Given the description of an element on the screen output the (x, y) to click on. 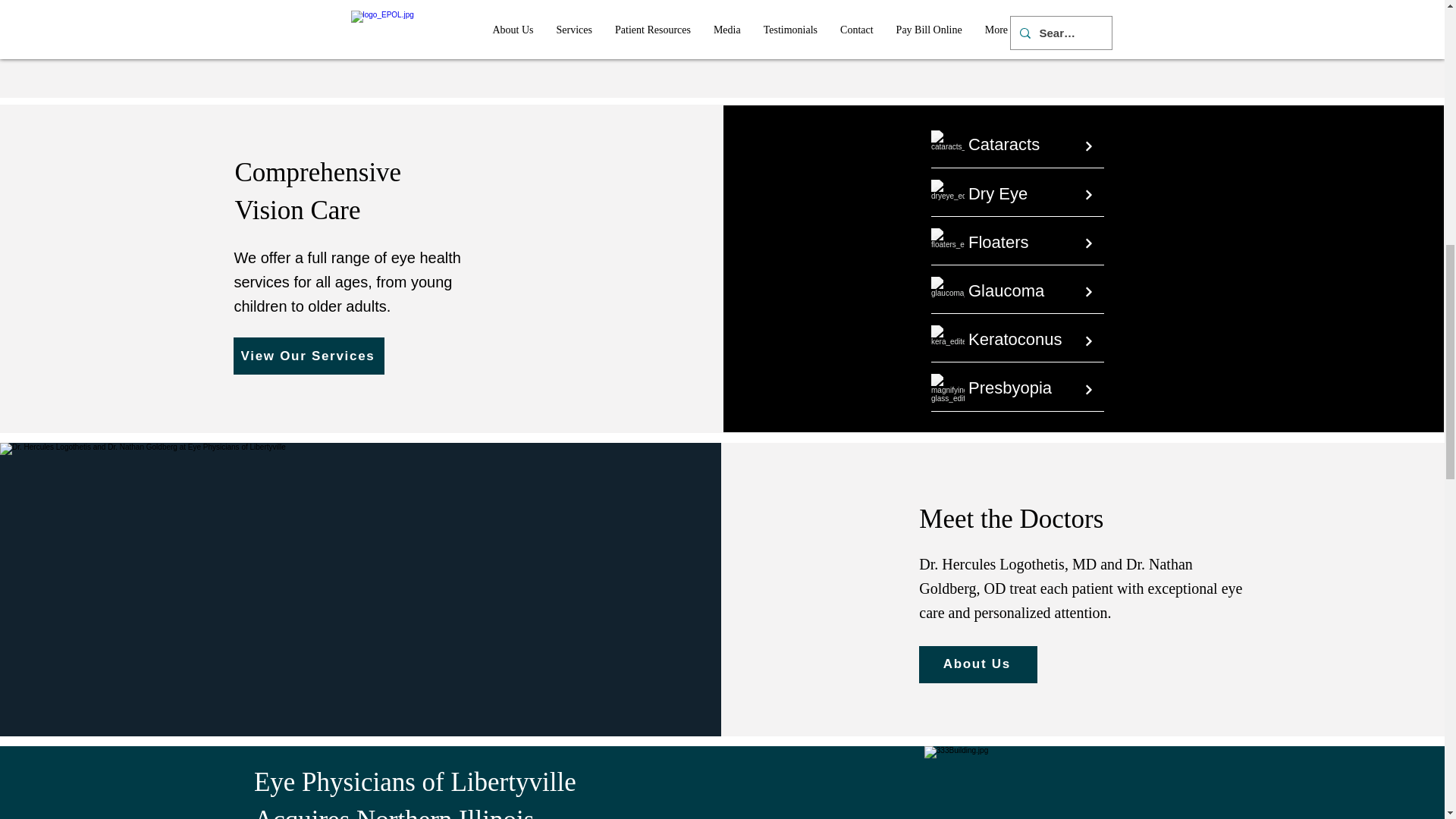
View Our Services (308, 355)
Cataracts (1003, 144)
View Laser Vision Corrective Surgeries (1073, 18)
Glaucoma (1005, 290)
Dry Eye (997, 193)
Keratoconus (1015, 339)
Presbyopia (1009, 387)
Floaters (997, 241)
